Given the description of an element on the screen output the (x, y) to click on. 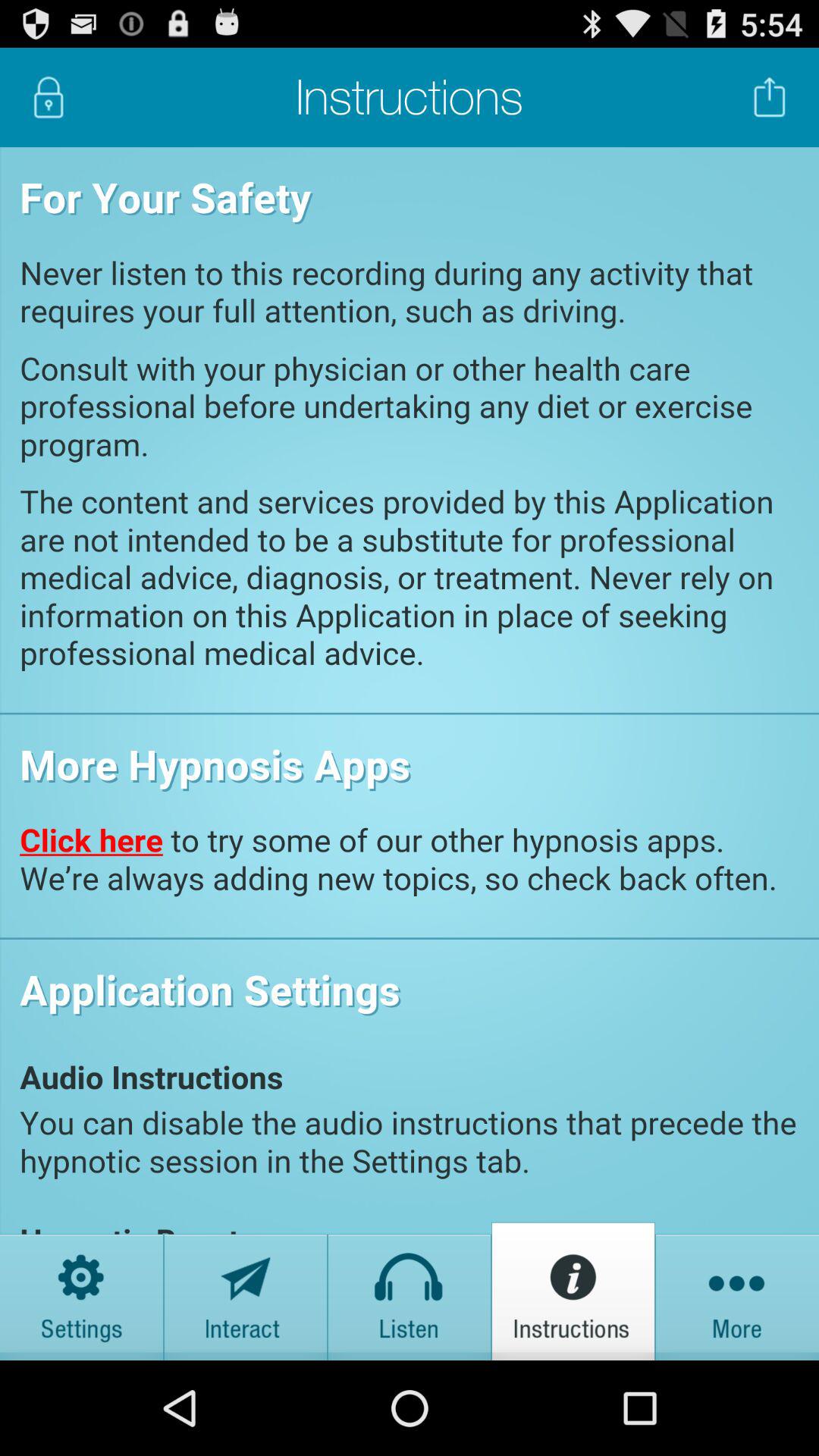
go to listen option (409, 1290)
